Given the description of an element on the screen output the (x, y) to click on. 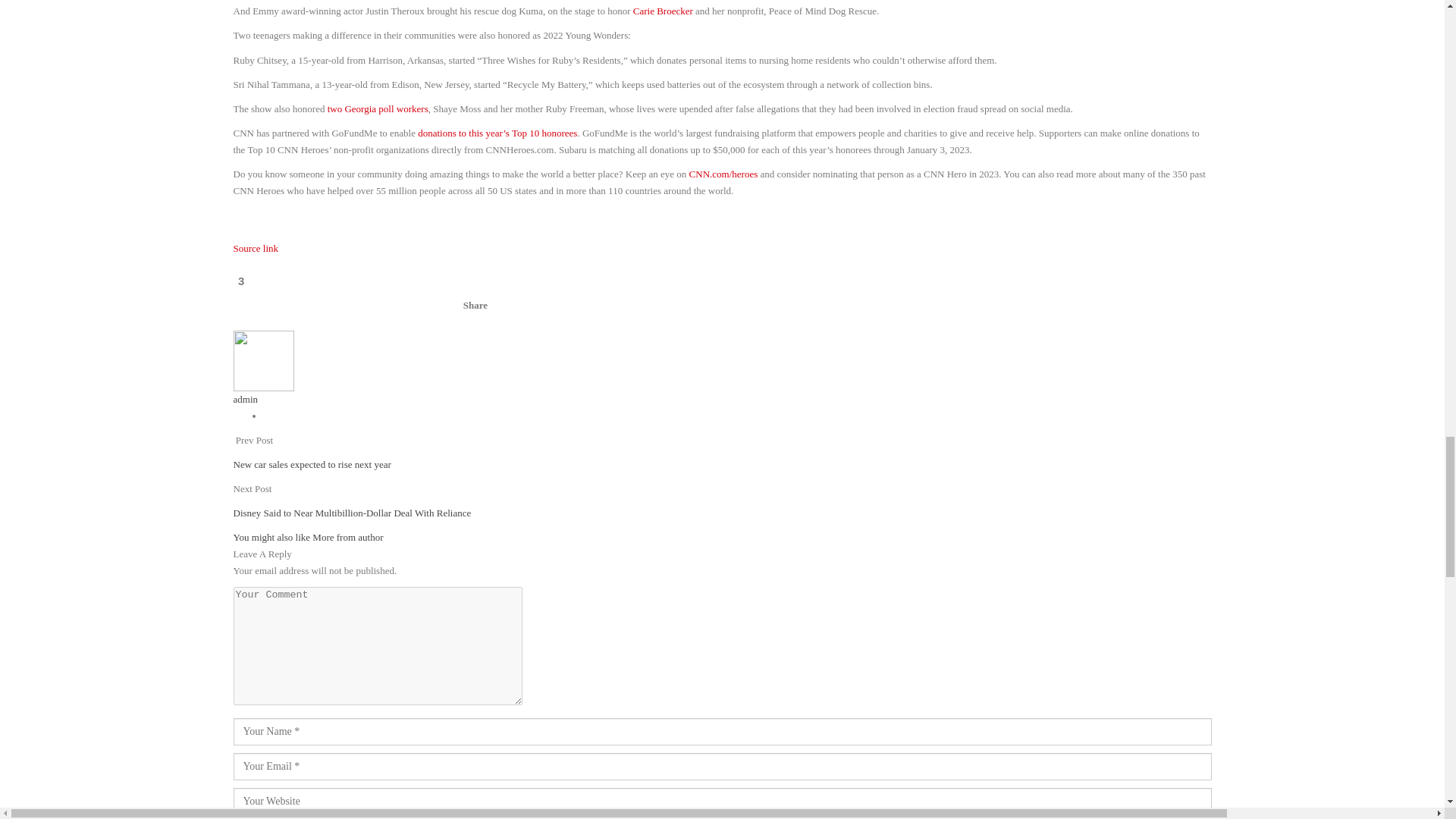
Browse Author Articles (263, 359)
